Given the description of an element on the screen output the (x, y) to click on. 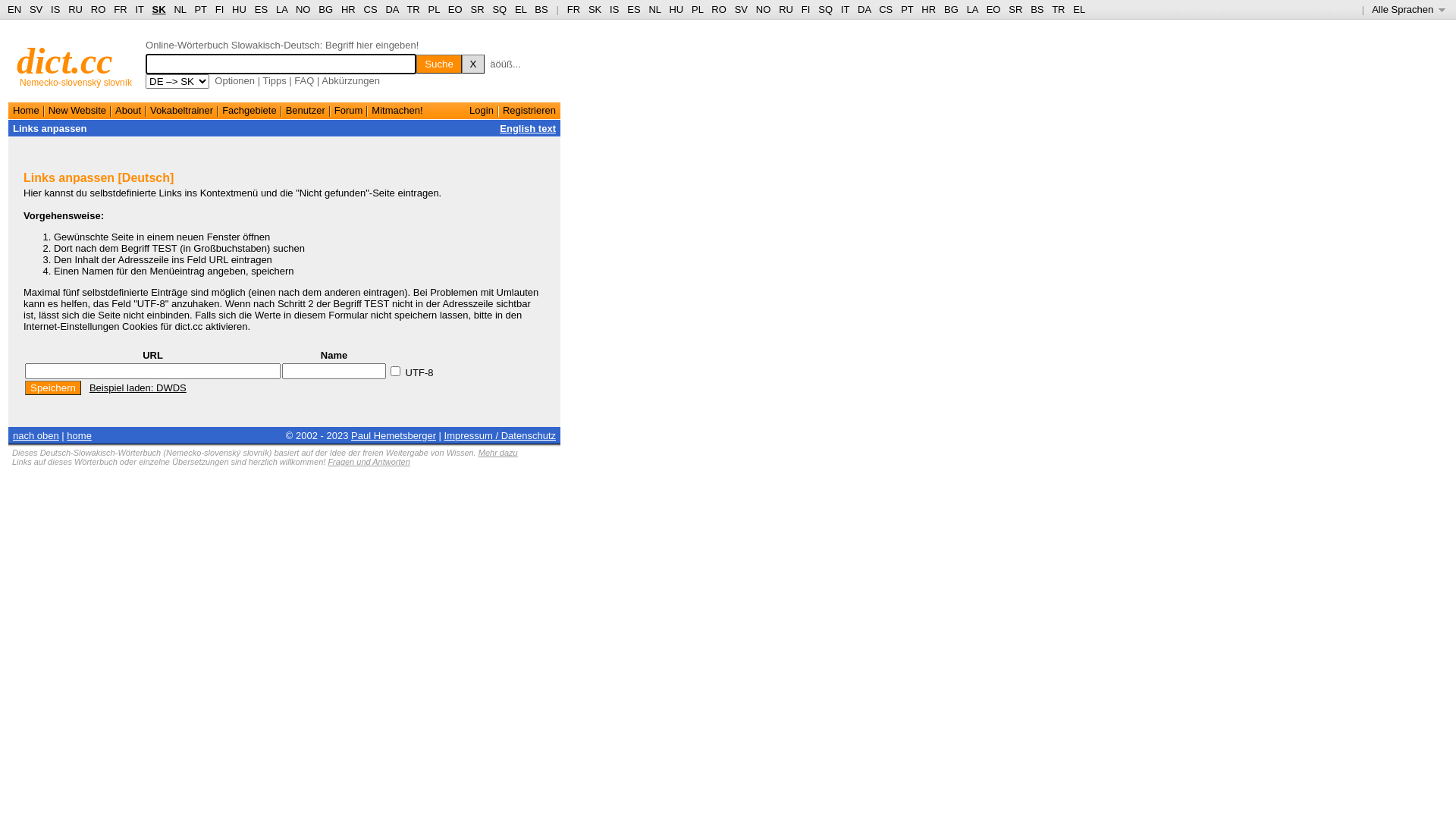
dict.cc Element type: text (64, 60)
SR Element type: text (476, 9)
SR Element type: text (1015, 9)
Vokabeltrainer Element type: text (181, 110)
New Website Element type: text (77, 110)
RO Element type: text (718, 9)
FAQ Element type: text (303, 80)
IS Element type: text (54, 9)
CS Element type: text (885, 9)
NO Element type: text (302, 9)
HU Element type: text (239, 9)
FI Element type: text (219, 9)
Tipps Element type: text (273, 80)
DA Element type: text (863, 9)
NO Element type: text (763, 9)
About Element type: text (128, 110)
FR Element type: text (573, 9)
ES Element type: text (633, 9)
Fragen und Antworten Element type: text (368, 461)
Paul Hemetsberger Element type: text (393, 434)
BG Element type: text (951, 9)
Home Element type: text (25, 110)
Mehr dazu Element type: text (497, 452)
BG Element type: text (325, 9)
PT Element type: text (200, 9)
Speichern Element type: text (53, 387)
TR Element type: text (412, 9)
home Element type: text (78, 434)
IT Element type: text (138, 9)
PL Element type: text (433, 9)
PT Element type: text (906, 9)
FI Element type: text (805, 9)
DA Element type: text (391, 9)
RU Element type: text (75, 9)
SK Element type: text (159, 9)
SV Element type: text (35, 9)
Optionen Element type: text (234, 80)
Mitmachen! Element type: text (396, 110)
Login Element type: text (481, 110)
Suche Element type: text (438, 63)
EO Element type: text (455, 9)
NL Element type: text (654, 9)
RO Element type: text (98, 9)
HU Element type: text (675, 9)
CS Element type: text (370, 9)
BS Element type: text (540, 9)
Forum Element type: text (348, 110)
EN Element type: text (14, 9)
EL Element type: text (520, 9)
PL Element type: text (696, 9)
IS Element type: text (613, 9)
HR Element type: text (348, 9)
SK Element type: text (594, 9)
EL Element type: text (1079, 9)
Beispiel laden: DWDS Element type: text (137, 387)
LA Element type: text (972, 9)
nach oben Element type: text (35, 434)
English text Element type: text (527, 128)
Registrieren Element type: text (528, 110)
SQ Element type: text (499, 9)
BS Element type: text (1036, 9)
EO Element type: text (993, 9)
ES Element type: text (260, 9)
HR Element type: text (928, 9)
TR Element type: text (1057, 9)
SQ Element type: text (825, 9)
IT Element type: text (844, 9)
Impressum / Datenschutz Element type: text (499, 434)
NL Element type: text (179, 9)
Alle Sprachen  Element type: text (1408, 9)
LA Element type: text (281, 9)
RU Element type: text (785, 9)
Benutzer Element type: text (305, 110)
X Element type: text (472, 63)
FR Element type: text (119, 9)
Fachgebiete Element type: text (249, 110)
SV Element type: text (740, 9)
